Given the description of an element on the screen output the (x, y) to click on. 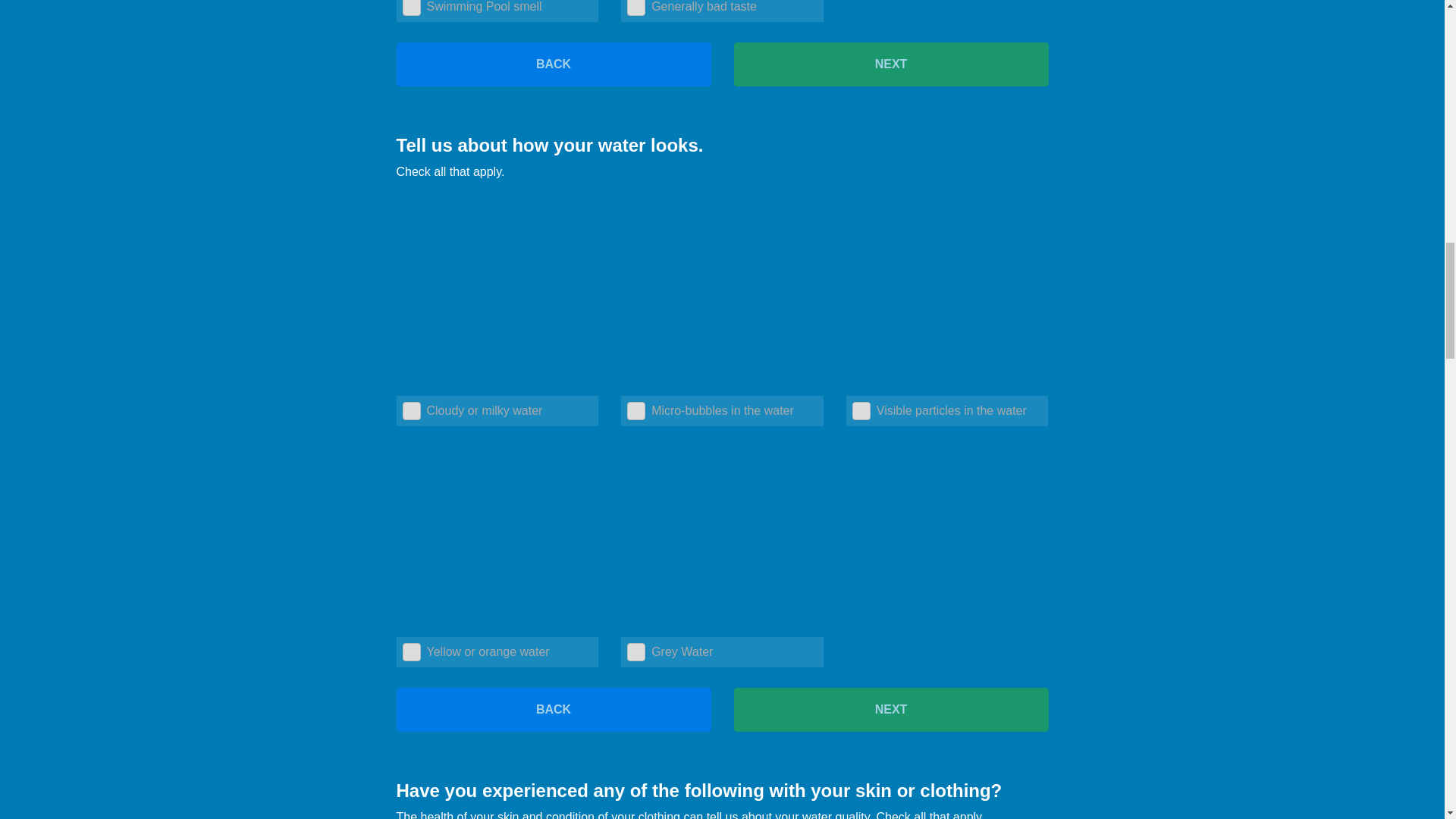
NEXT (890, 709)
BACK (553, 64)
NEXT (890, 64)
BACK (553, 709)
